Given the description of an element on the screen output the (x, y) to click on. 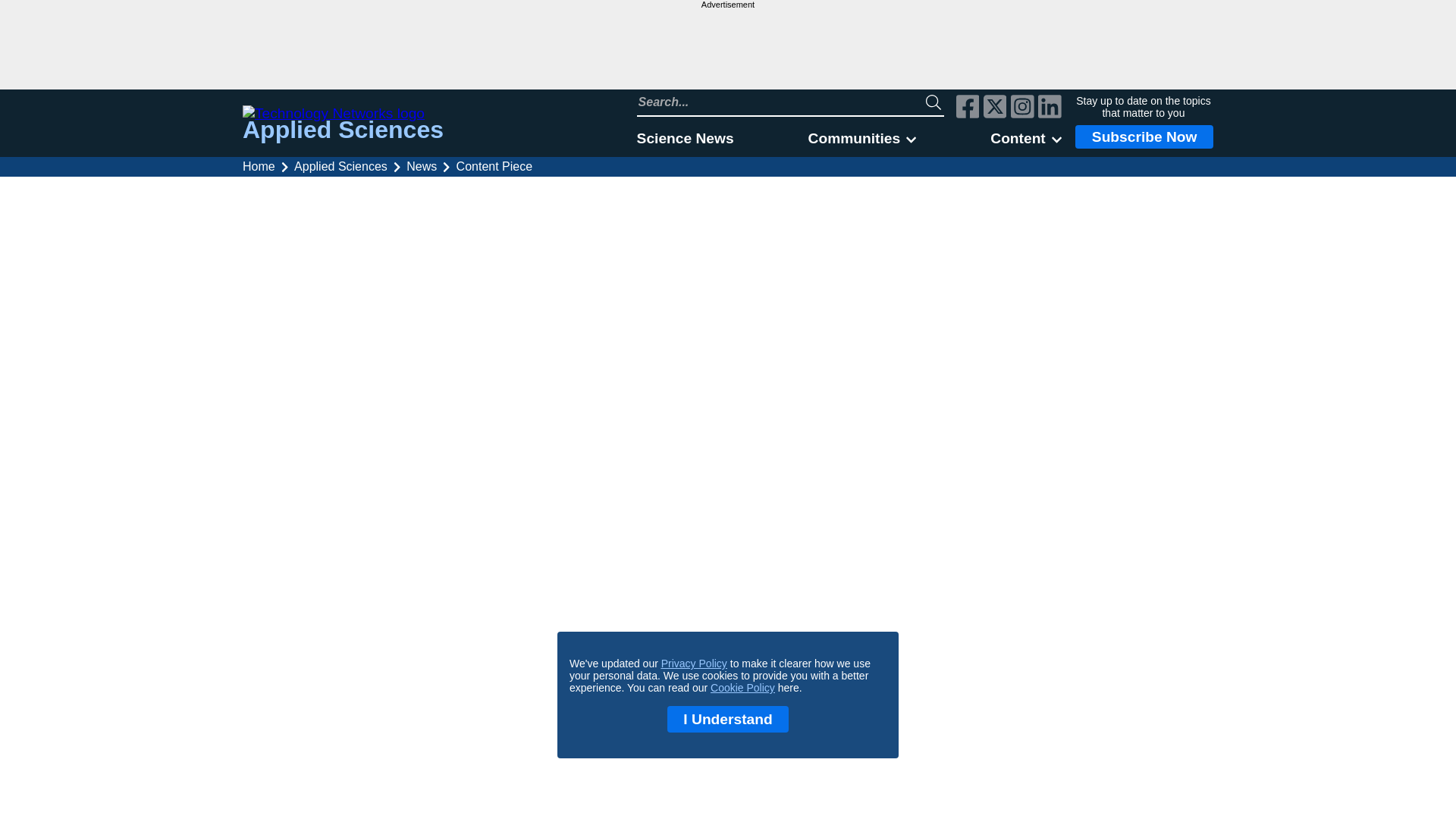
Privacy Policy (693, 663)
Cookie Policy (742, 687)
Technology Networks logo (343, 113)
Search Technology Networks website input field (781, 102)
I Understand (727, 718)
